Given the description of an element on the screen output the (x, y) to click on. 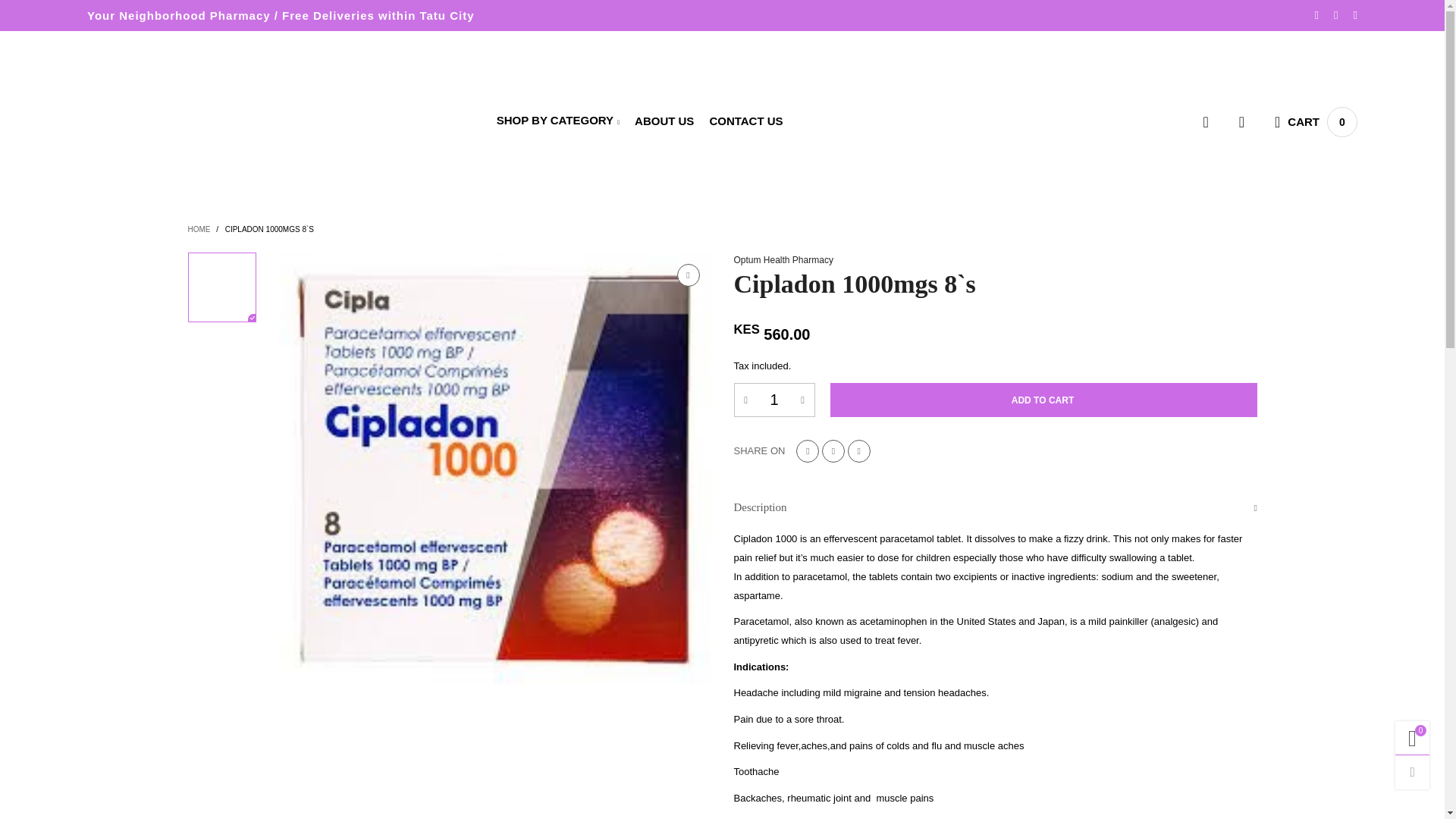
SHOP BY CATEGORY (558, 121)
Shop By Category (558, 121)
1 (773, 400)
Optum Health Pharmacy (185, 129)
